Given the description of an element on the screen output the (x, y) to click on. 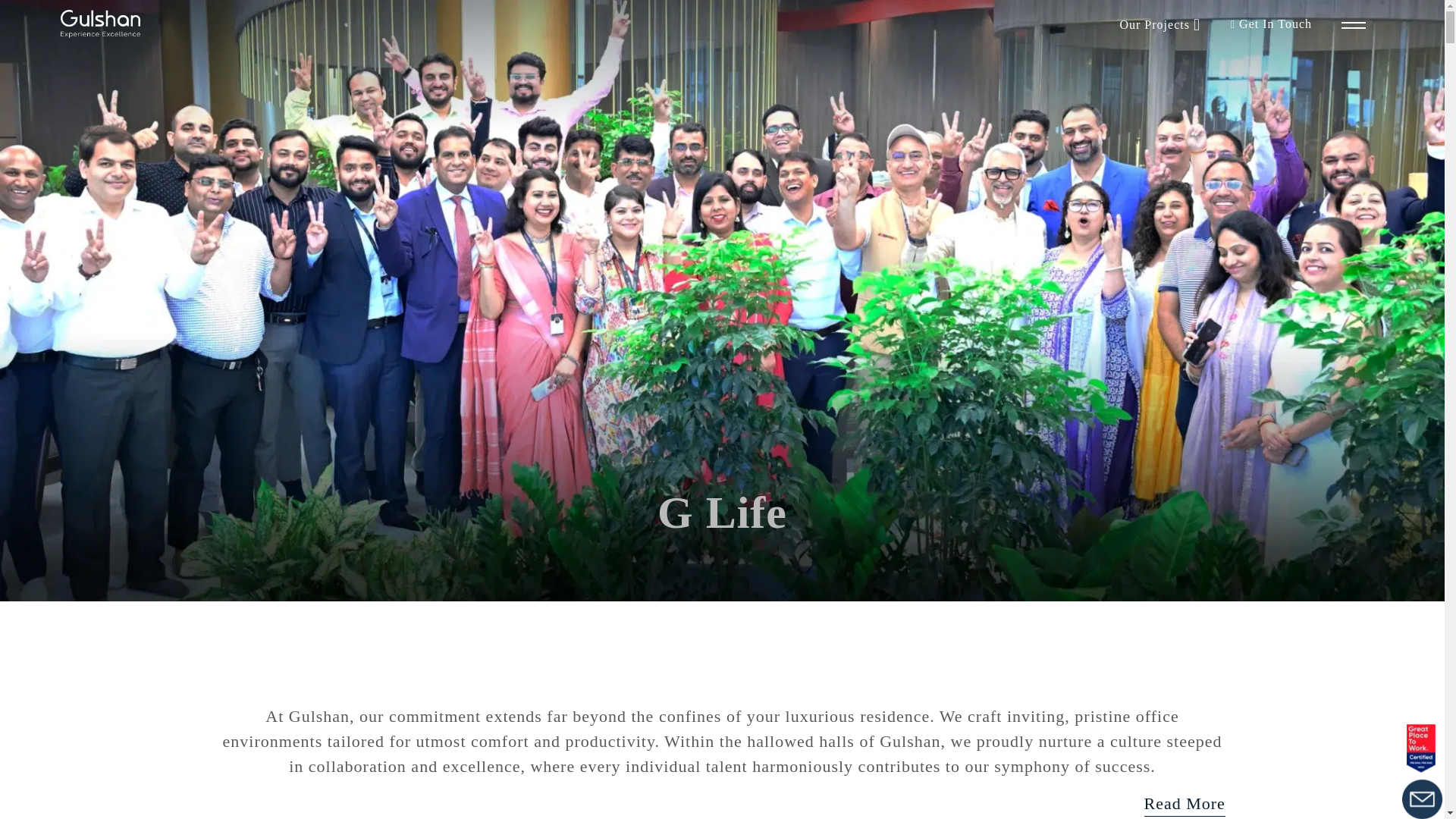
Get In Touch (1269, 24)
Our Projects (1154, 24)
